Given the description of an element on the screen output the (x, y) to click on. 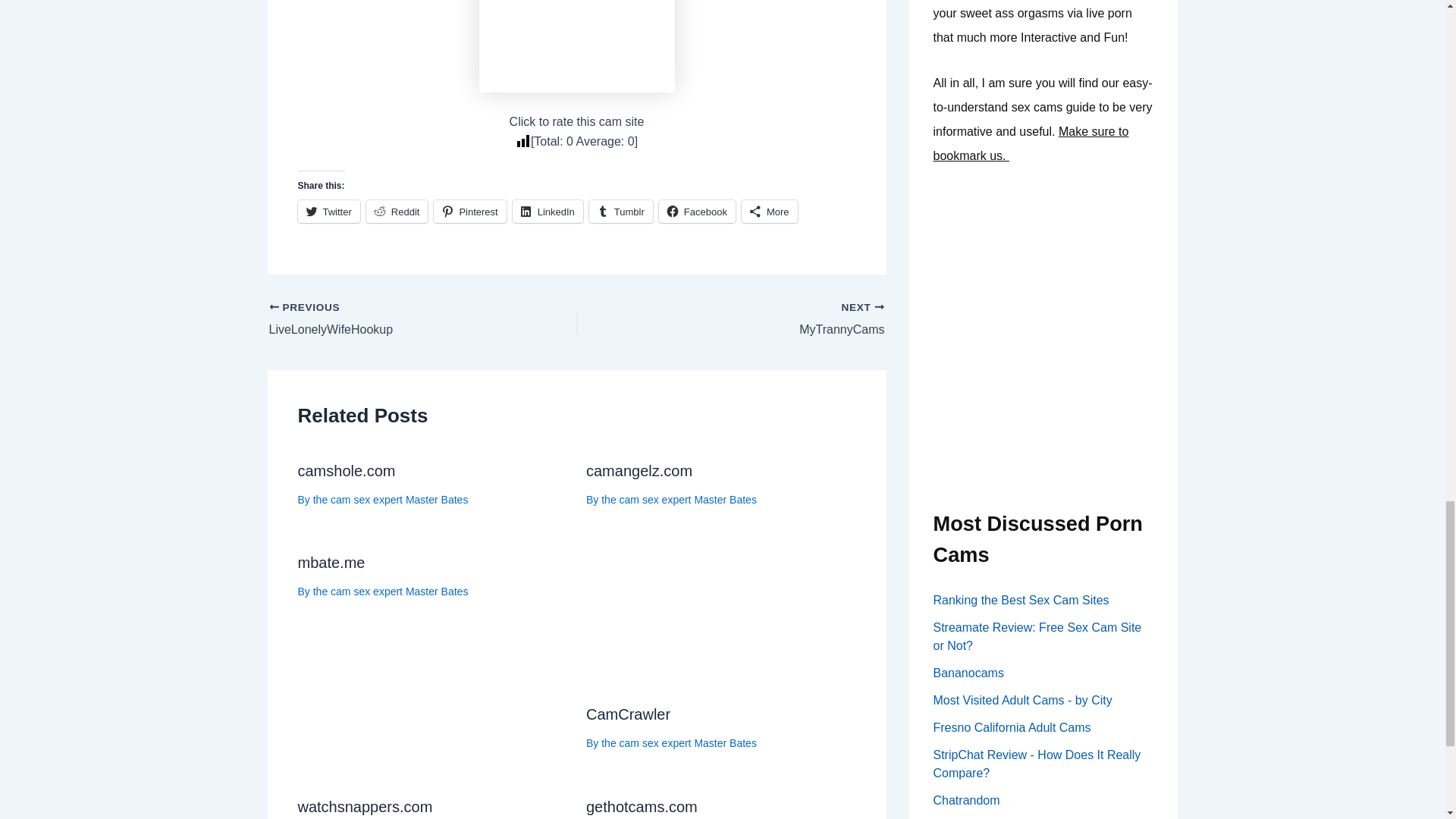
LiveLonelyWifeHookup (391, 319)
Click to share on LinkedIn (547, 210)
Click to share on Pinterest (469, 210)
Click to share on Facebook (697, 210)
Click to share on Reddit (397, 210)
Click to share on Twitter (328, 210)
Click to share on Tumblr (620, 210)
